Given the description of an element on the screen output the (x, y) to click on. 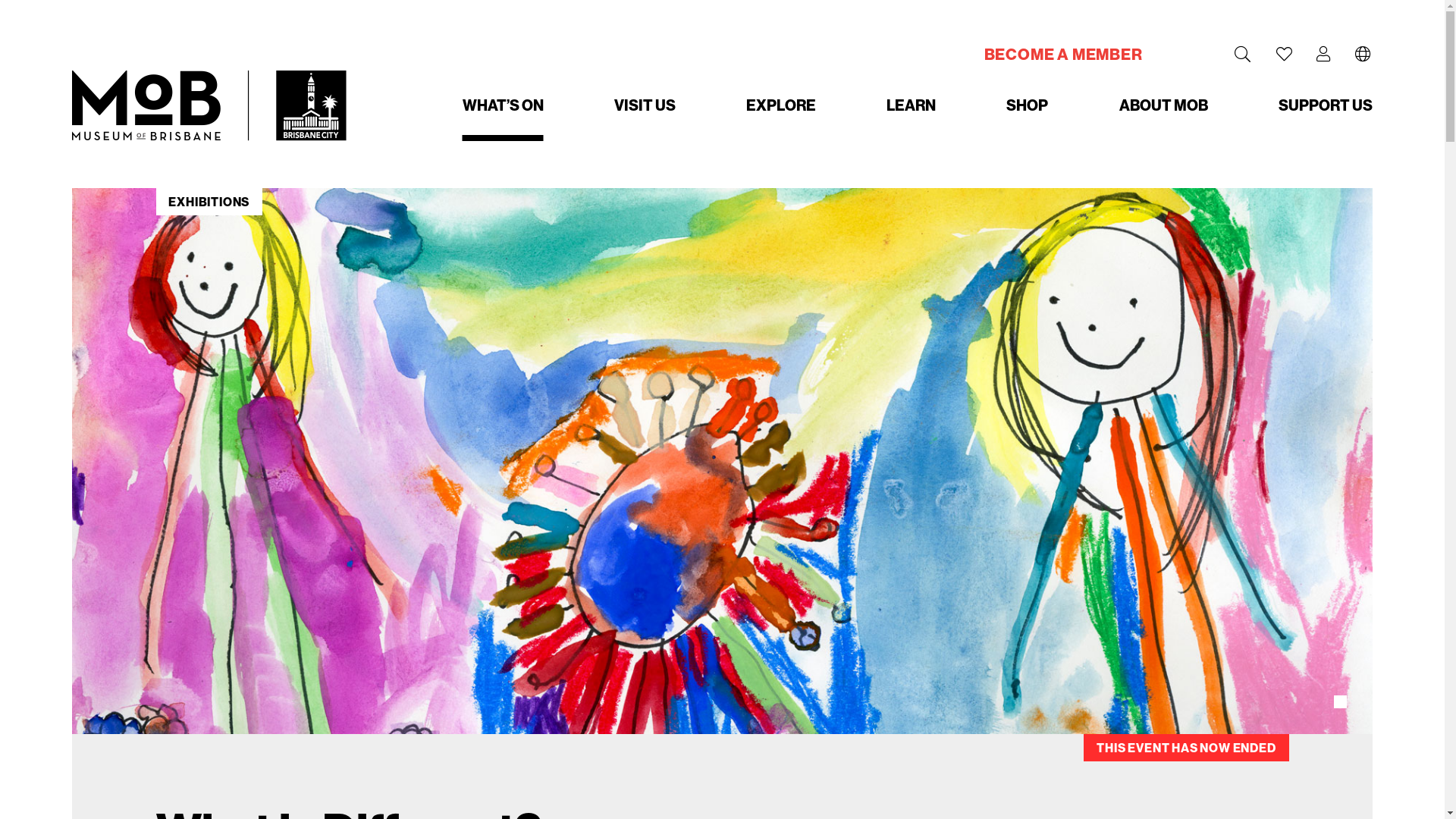
My Account Element type: text (1323, 54)
EXPLORE Element type: text (780, 105)
BECOME A MEMBER Element type: text (1063, 54)
LEARN Element type: text (910, 105)
View favourites Element type: text (1284, 54)
SHOP Element type: text (1027, 105)
ABOUT MOB Element type: text (1163, 105)
SUPPORT US Element type: text (1325, 105)
Search Element type: text (1242, 57)
Translate Element type: text (1362, 57)
VISIT US Element type: text (644, 105)
